Given the description of an element on the screen output the (x, y) to click on. 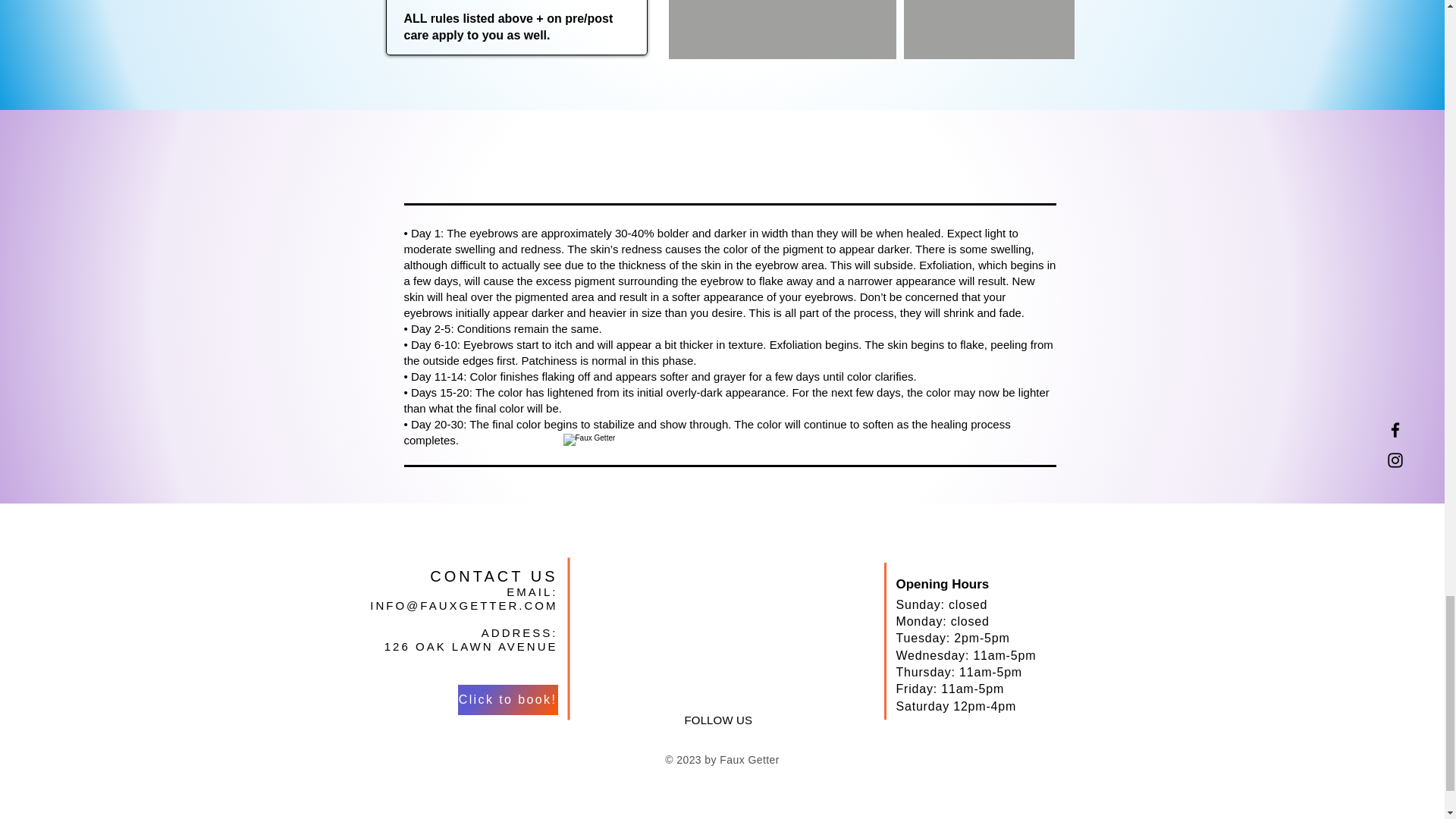
Click to book! (507, 699)
